Given the description of an element on the screen output the (x, y) to click on. 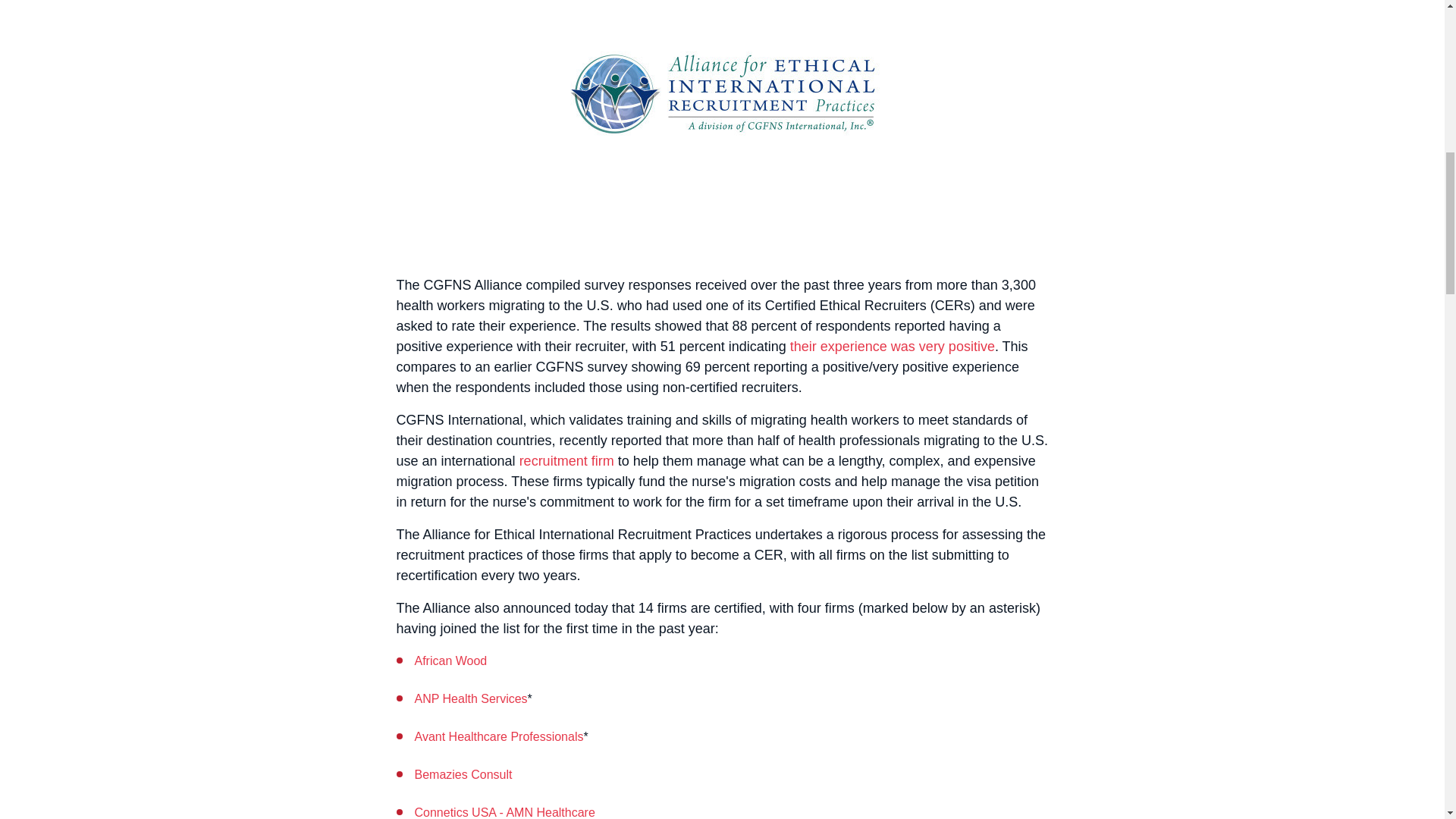
Bemazies Consult (462, 774)
their experience was very positive (892, 346)
recruitment firm (566, 460)
Avant Healthcare Professionals (498, 736)
African Wood (449, 660)
Connetics USA - AMN Healthcare (503, 812)
ANP Health Services (470, 698)
